Given the description of an element on the screen output the (x, y) to click on. 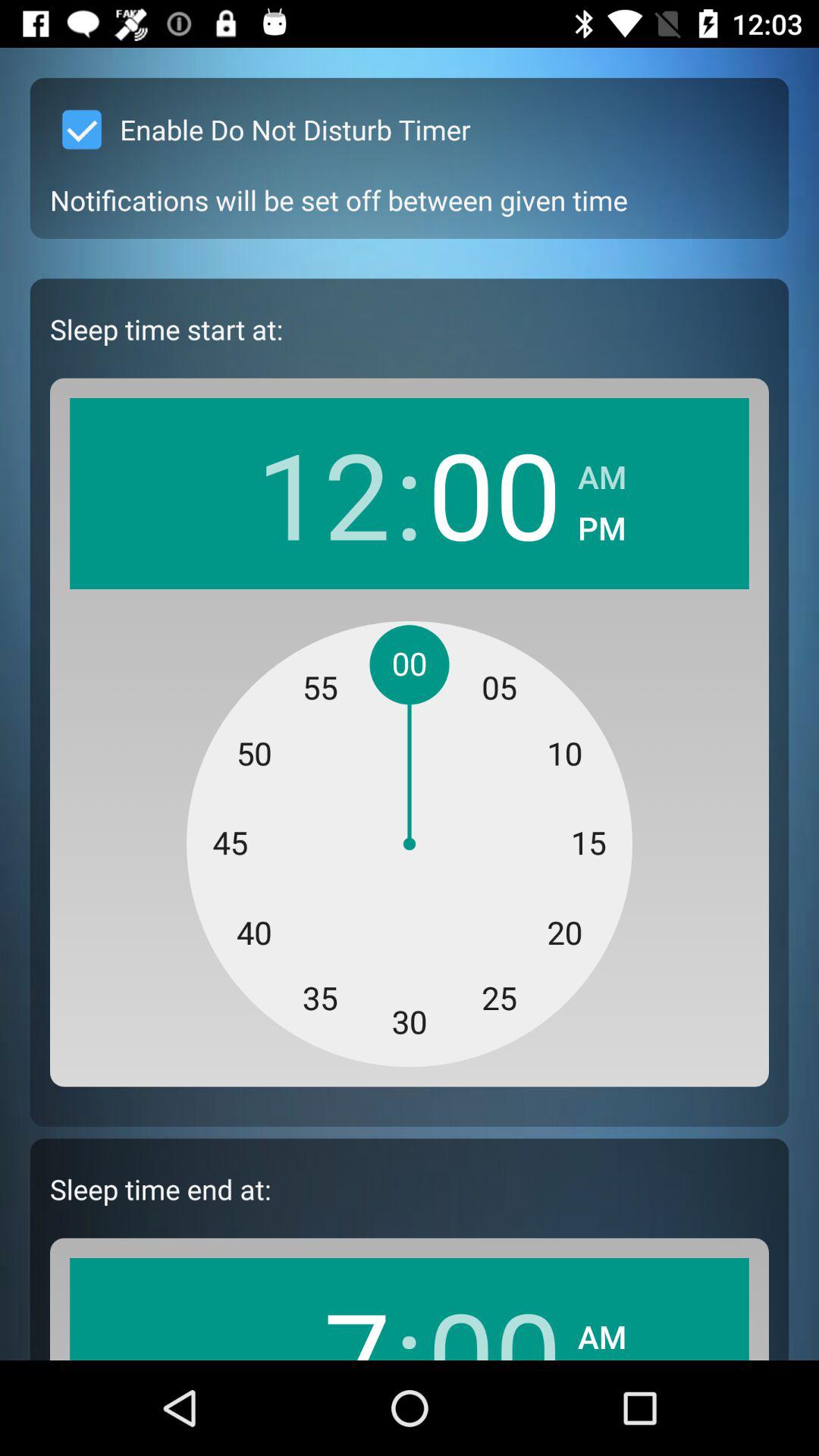
select the item below the sleep time start app (323, 493)
